Given the description of an element on the screen output the (x, y) to click on. 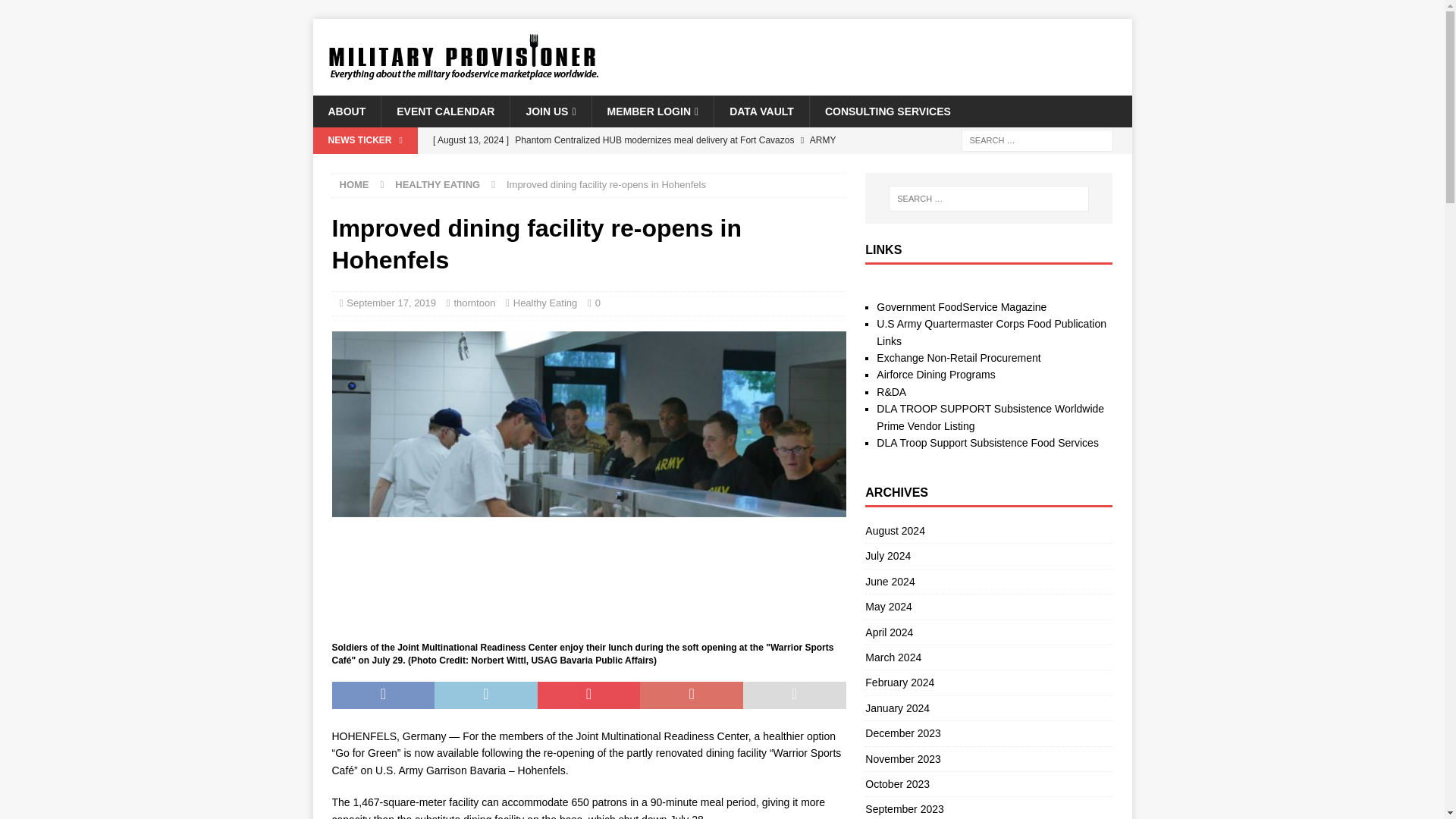
September 17, 2019 (390, 302)
Search (56, 11)
EVENT CALENDAR (444, 111)
DATA VAULT (761, 111)
thorntoon (473, 302)
CONSULTING SERVICES (887, 111)
JOIN US (550, 111)
HEALTHY EATING (437, 184)
